Given the description of an element on the screen output the (x, y) to click on. 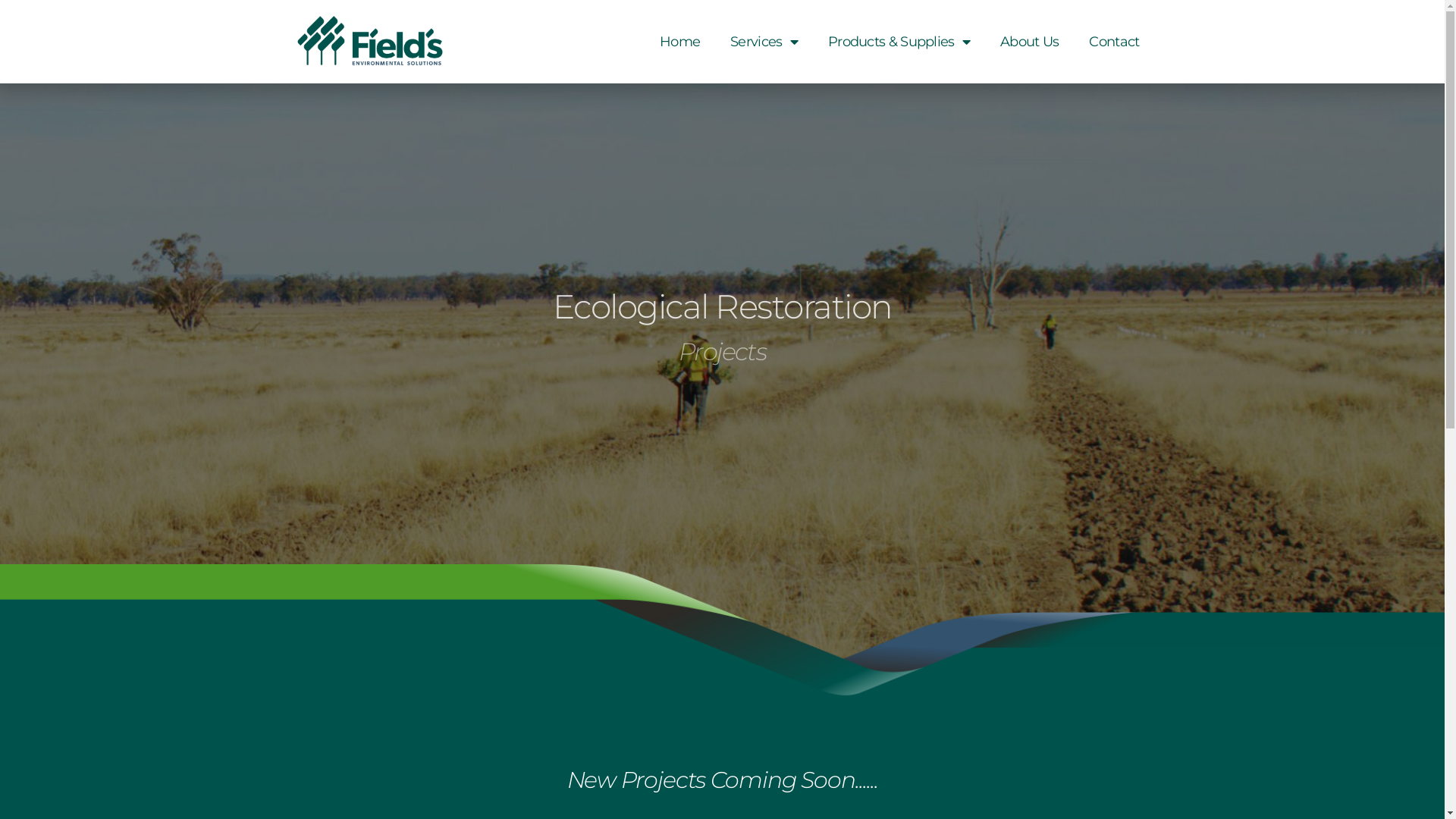
Contact Element type: text (1113, 41)
Products & Supplies Element type: text (898, 41)
Services Element type: text (763, 41)
About Us Element type: text (1029, 41)
Home Element type: text (679, 41)
